Given the description of an element on the screen output the (x, y) to click on. 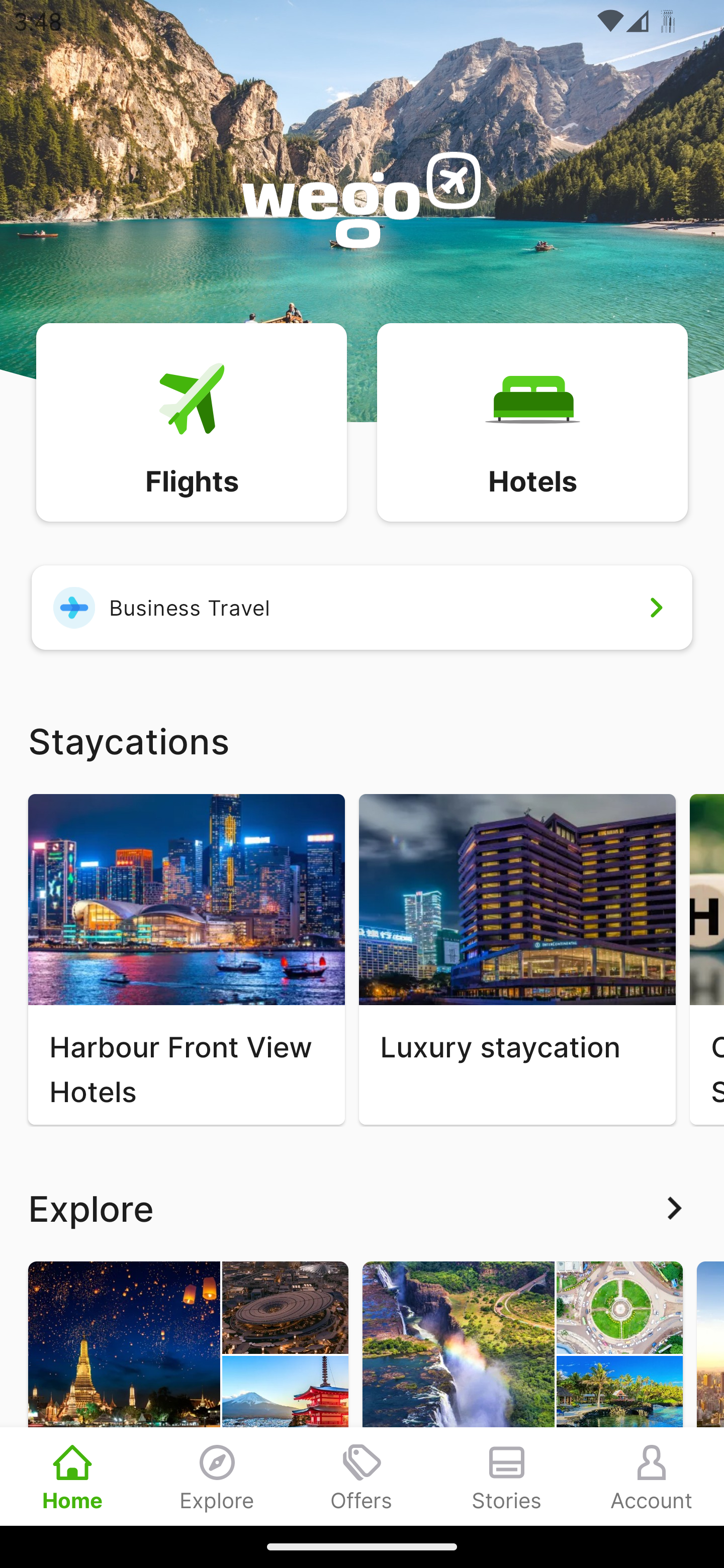
Flights (191, 420)
Hotels (532, 420)
Business Travel (361, 607)
Staycations (362, 739)
Harbour Front View Hotels (186, 958)
Luxury staycation (517, 958)
Explore (362, 1207)
Popular Destinations (188, 1392)
Visa-free Countries (522, 1392)
Explore (216, 1475)
Offers (361, 1475)
Stories (506, 1475)
Account (651, 1475)
